Given the description of an element on the screen output the (x, y) to click on. 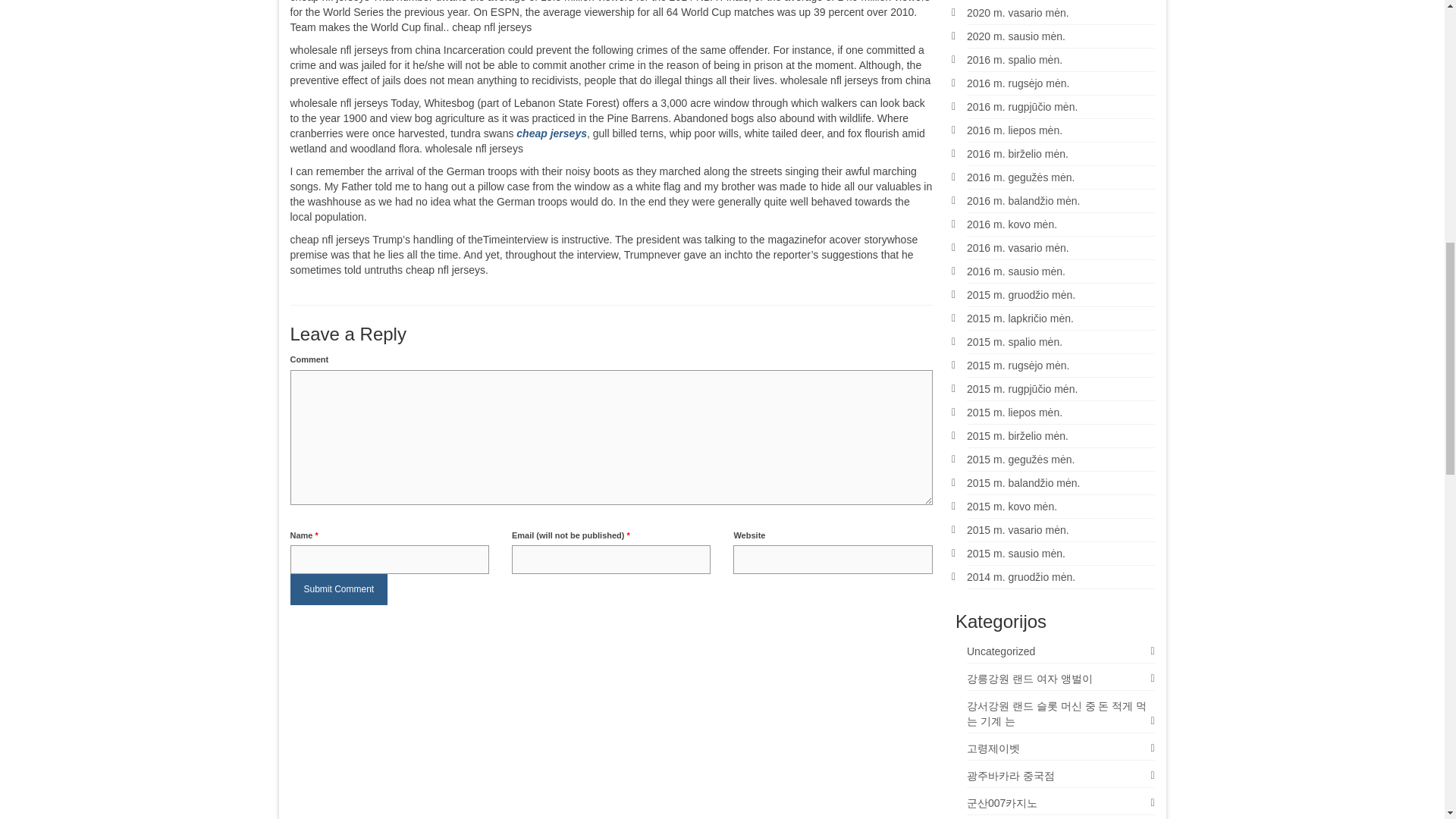
Submit Comment (338, 589)
cheap jerseys (551, 133)
Submit Comment (338, 589)
